Given the description of an element on the screen output the (x, y) to click on. 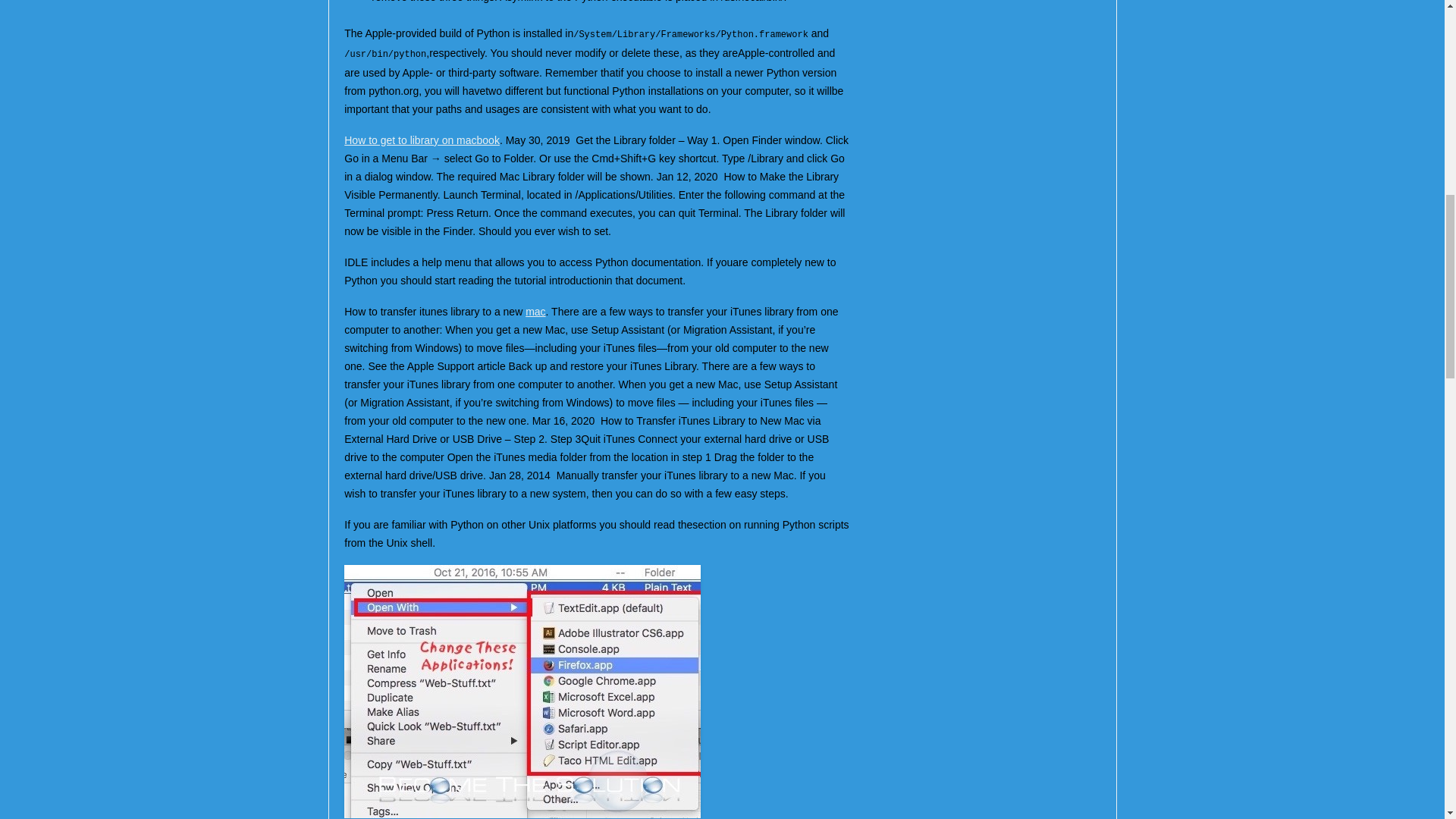
How to get to library on macbook (421, 140)
System Library Frameworks Mac (521, 691)
mac (534, 311)
